Given the description of an element on the screen output the (x, y) to click on. 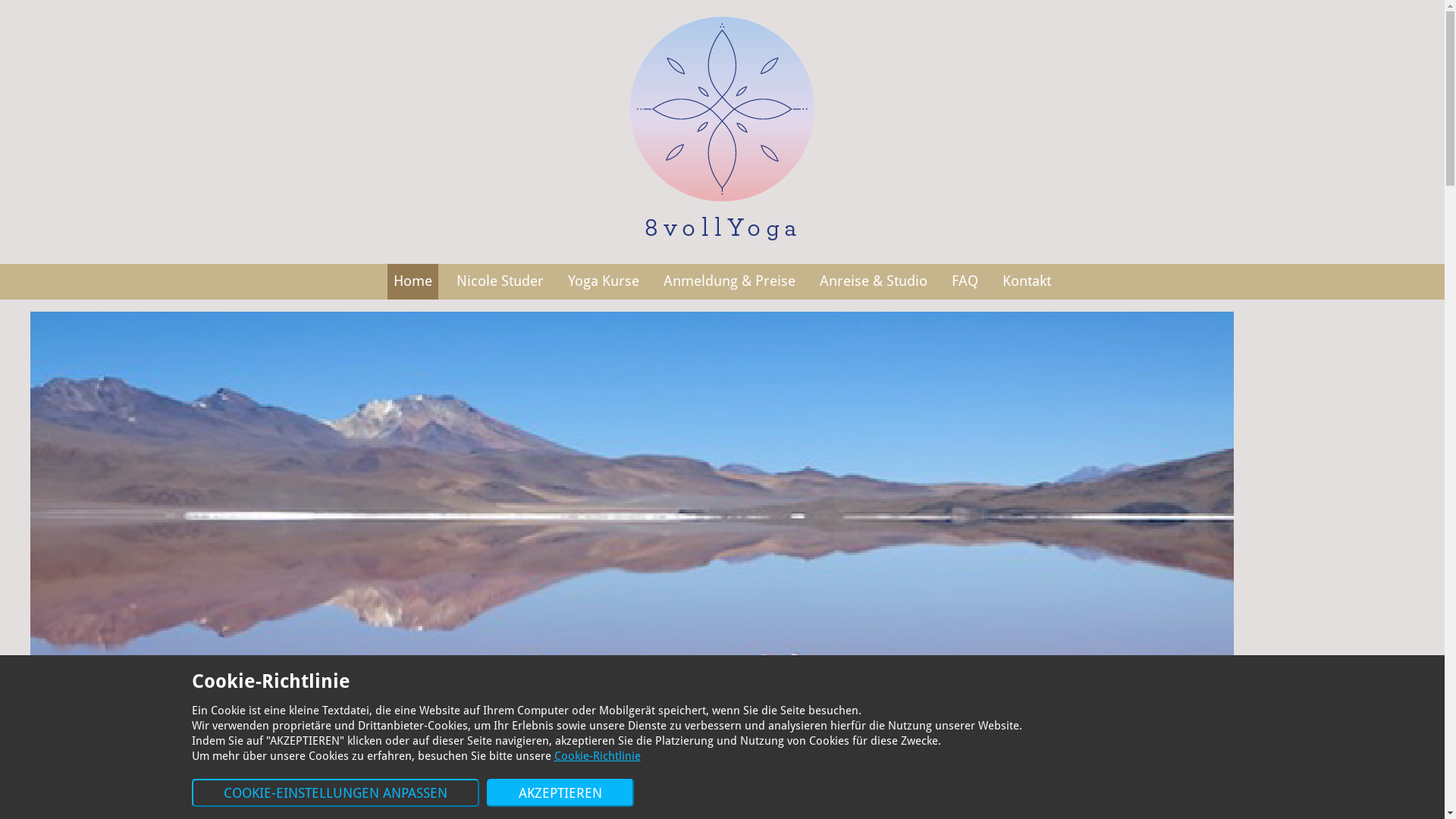
FAQ Element type: text (964, 281)
Nicole Studer Element type: text (499, 281)
Hier geht es direkt zur Anmeldung & Preise. Element type: text (715, 622)
Yoga Gruppenkurse Element type: text (365, 410)
AKZEPTIEREN Element type: text (559, 792)
COOKIE-EINSTELLUNGEN ANPASSEN Element type: text (334, 792)
Home Element type: text (412, 281)
Kontakt Element type: text (1026, 281)
Privat Yoga, Business und Institution Yoga Element type: text (943, 410)
Anreise & Studio Element type: text (873, 281)
Anmeldung & Preise Element type: text (729, 281)
Cookie-Richtlinie Element type: text (596, 755)
Yoga Kurse Element type: text (603, 281)
